Given the description of an element on the screen output the (x, y) to click on. 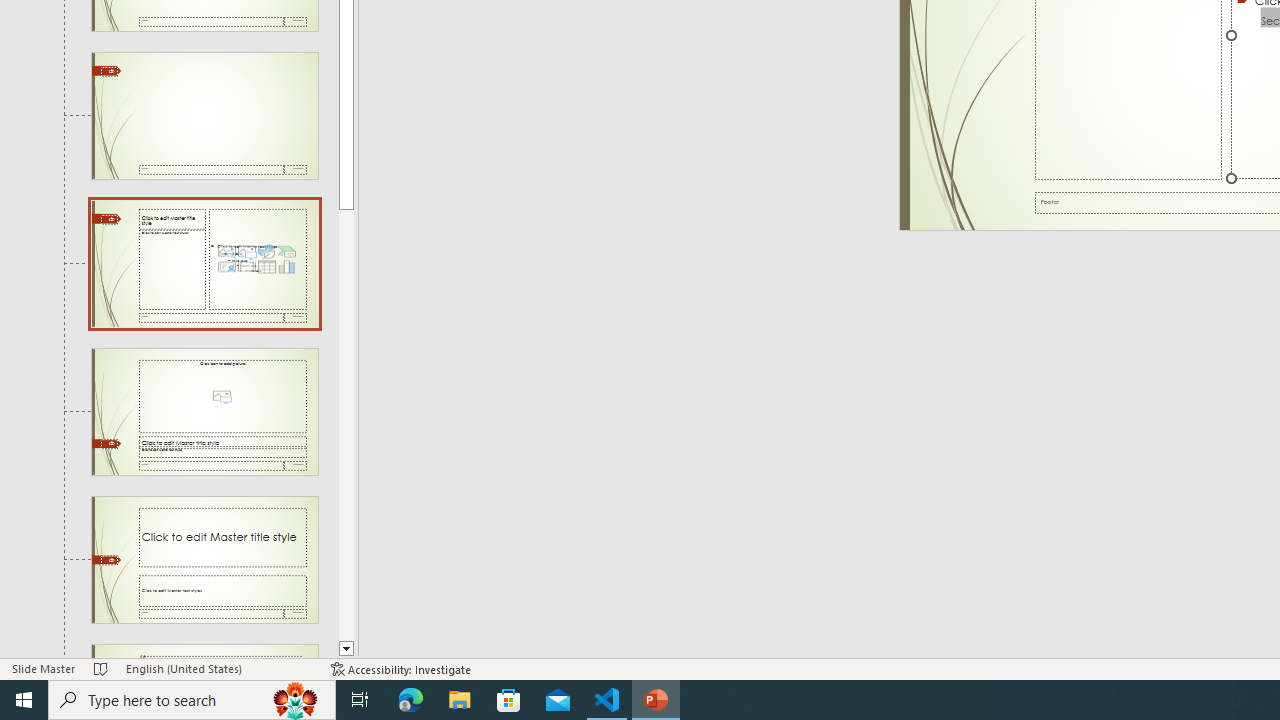
Accessibility Checker Accessibility: Investigate (401, 668)
Spell Check No Errors (101, 668)
Slide Quote with Caption Layout: used by no slides (204, 651)
Slide Picture with Caption Layout: used by no slides (204, 412)
Page down (345, 425)
Line down (345, 649)
Slide Title and Caption Layout: used by no slides (204, 559)
Slide Content with Caption Layout: used by no slides (204, 263)
Slide Blank Layout: used by no slides (204, 116)
